Given the description of an element on the screen output the (x, y) to click on. 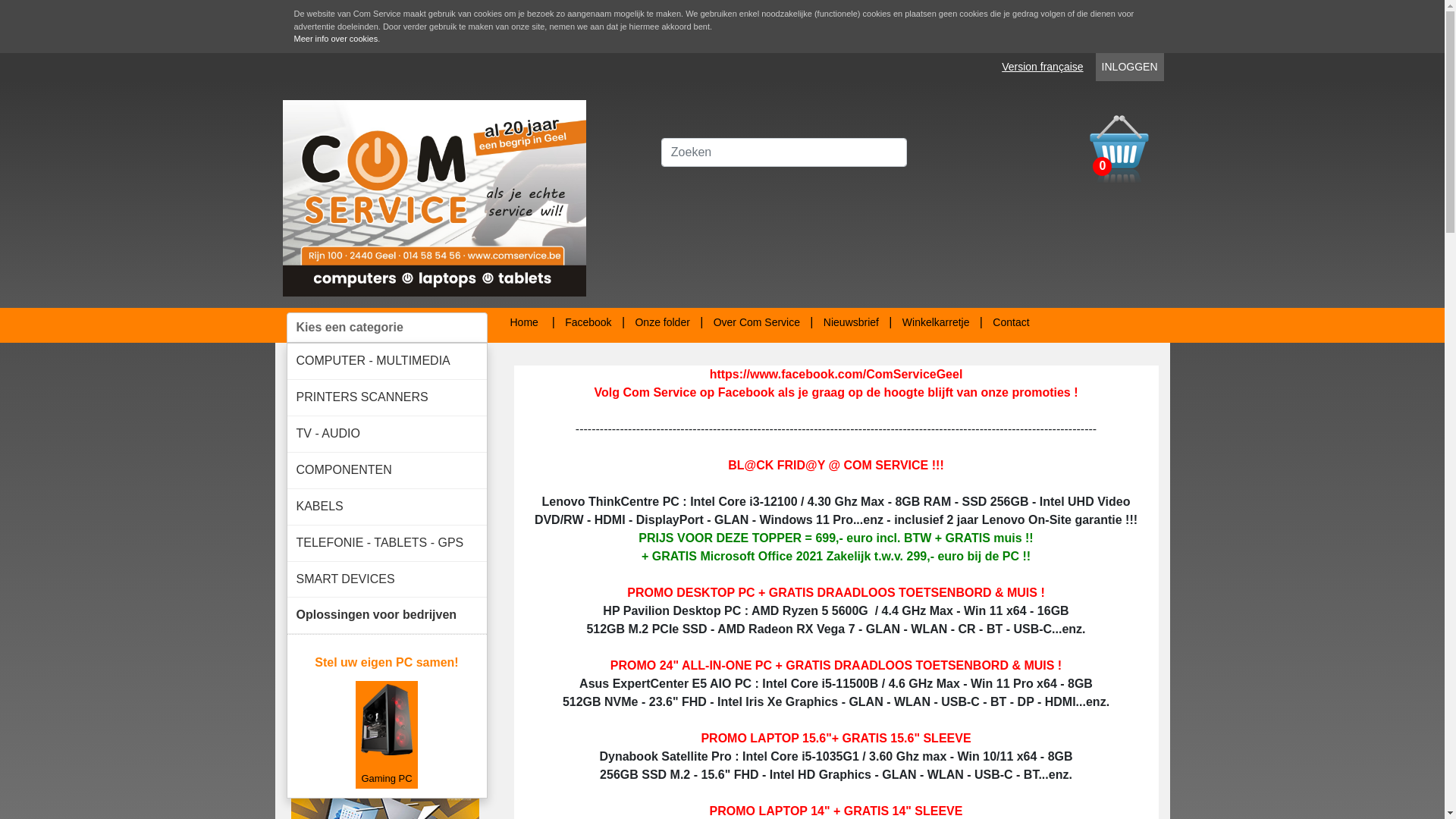
Kies een categorie Element type: text (386, 327)
Winkelkarretje Element type: text (935, 322)
Over Com Service Element type: text (756, 322)
Meer info over cookies Element type: text (336, 38)
COMPUTER - MULTIMEDIA Element type: text (386, 361)
Nieuwsbrief Element type: text (850, 322)
PRINTERS SCANNERS Element type: text (386, 397)
TELEFONIE - TABLETS - GPS Element type: text (386, 543)
Contact Element type: text (1010, 322)
Gaming PC Element type: text (386, 734)
TV - AUDIO Element type: text (386, 433)
Facebook Element type: text (587, 322)
Home Element type: text (523, 322)
KABELS Element type: text (386, 506)
COMPONENTEN Element type: text (386, 470)
Oplossingen voor bedrijven Element type: text (386, 615)
Onze folder Element type: text (661, 322)
SMART DEVICES Element type: text (386, 579)
https://www.facebook.com/ComServiceGeel Element type: text (836, 373)
